Given the description of an element on the screen output the (x, y) to click on. 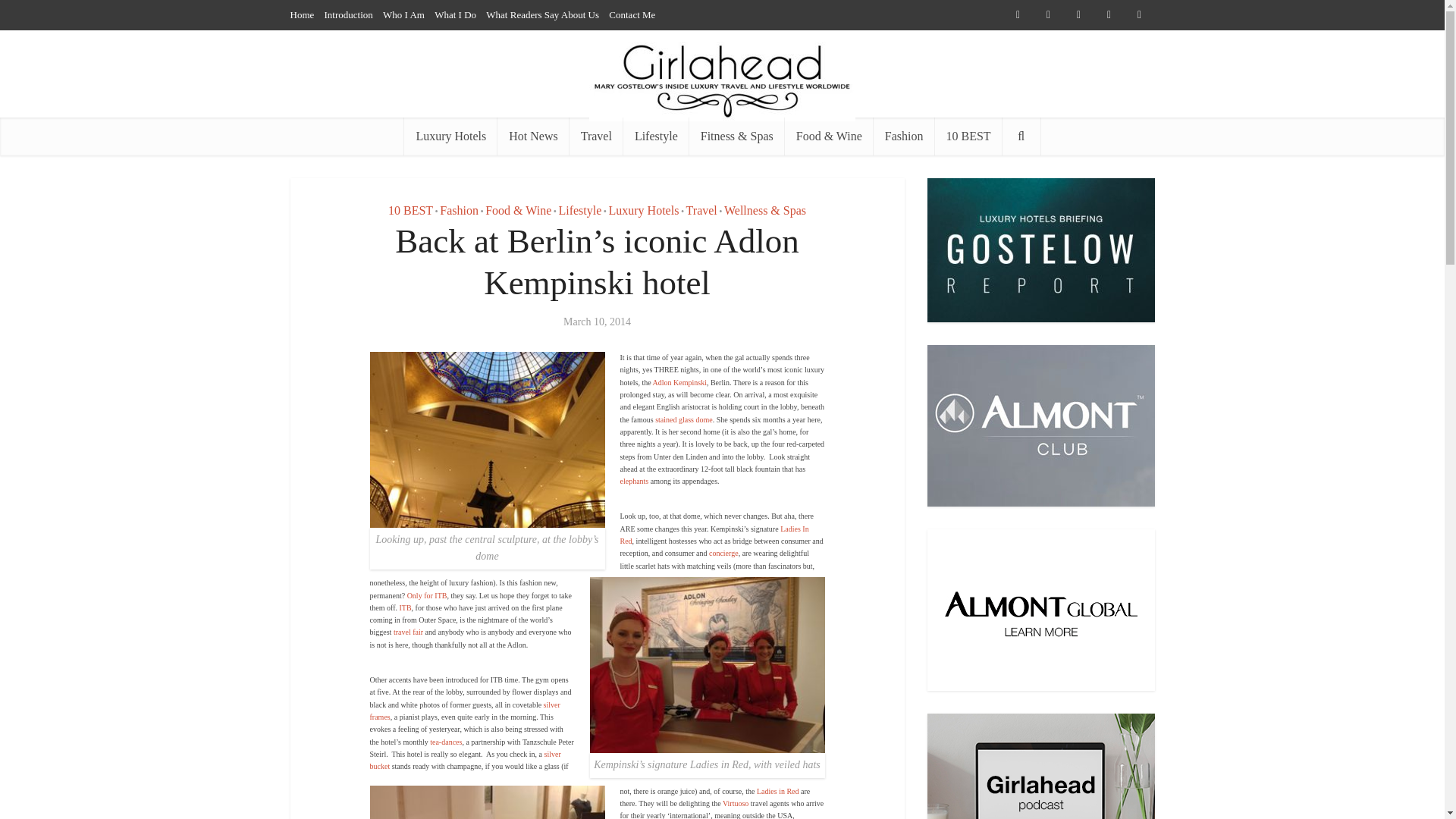
Contact Me (631, 14)
Fashion (459, 210)
A luxury Ritz hotel inspired by a king (723, 552)
Introduction (348, 14)
10 BEST (410, 210)
What Readers Say About Us (542, 14)
Hot News (533, 136)
Luxury Hotels (643, 210)
The luxury travel world must be in Cannes every December (735, 803)
The beautiful new luxury hotel in Berlin (404, 607)
What I Do (454, 14)
A stay that is pure gold at the luxury Hotel Adlon Kempinski (679, 382)
Luxury hotel owners meet in Berlin, once a year (426, 595)
Tulips at a unique luxury hotel by the Bosphorus (714, 534)
Lifestyle (579, 210)
